Given the description of an element on the screen output the (x, y) to click on. 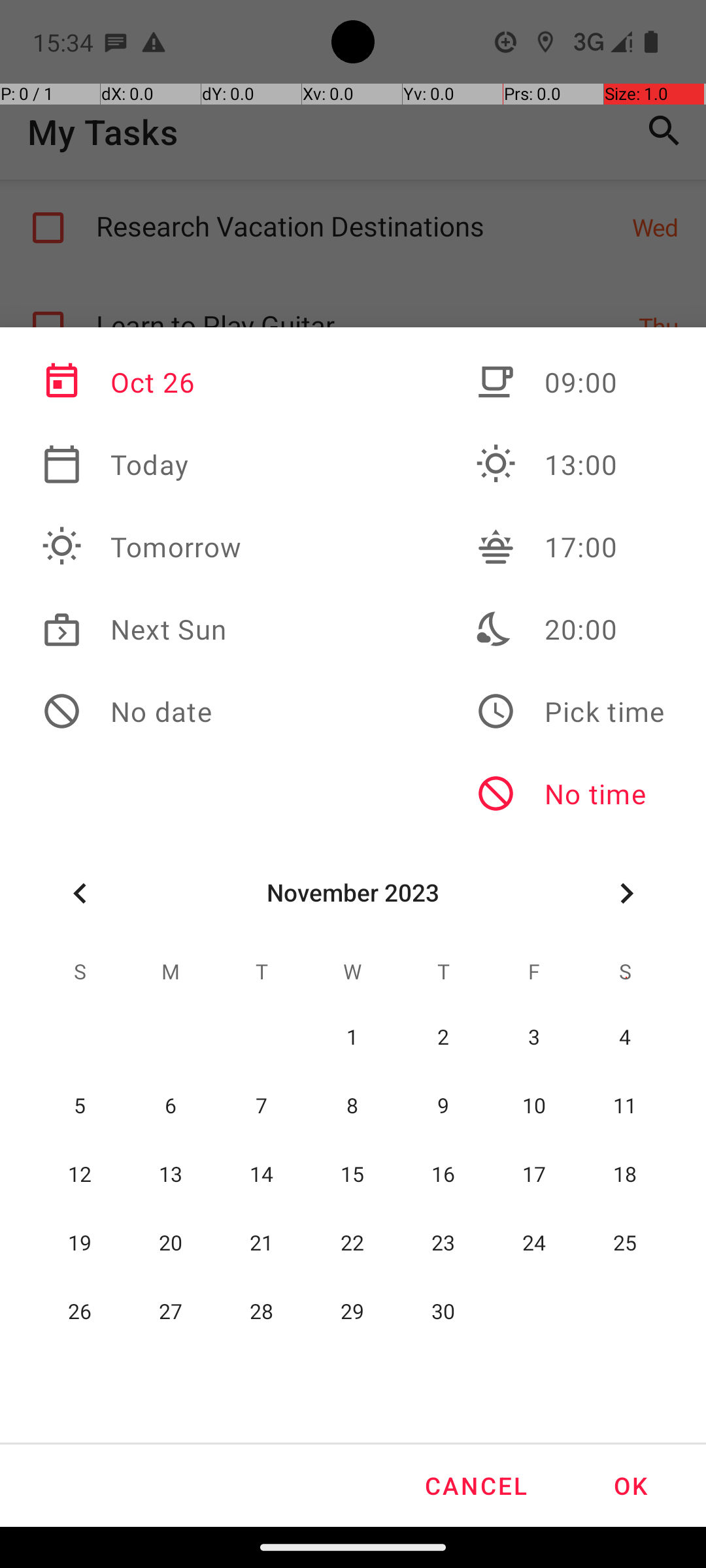
Oct 26 Element type: android.widget.CompoundButton (141, 382)
Tomorrow Element type: android.widget.CompoundButton (141, 546)
Next Sun Element type: android.widget.CompoundButton (141, 629)
No date Element type: android.widget.CompoundButton (141, 711)
No time Element type: android.widget.CompoundButton (569, 793)
